Given the description of an element on the screen output the (x, y) to click on. 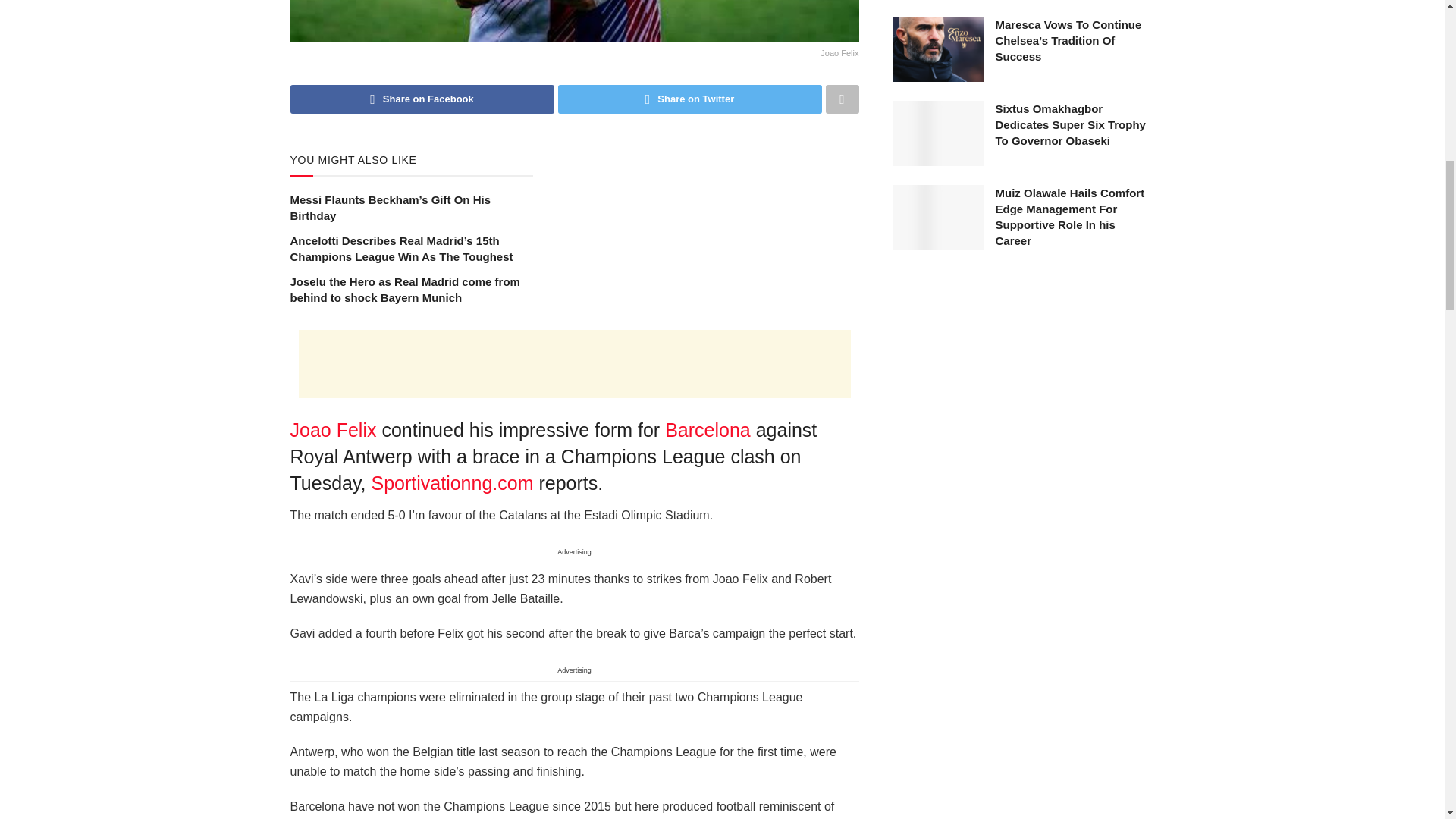
Share on Facebook (421, 99)
Share on Twitter (689, 99)
Joao Felix (574, 31)
